Given the description of an element on the screen output the (x, y) to click on. 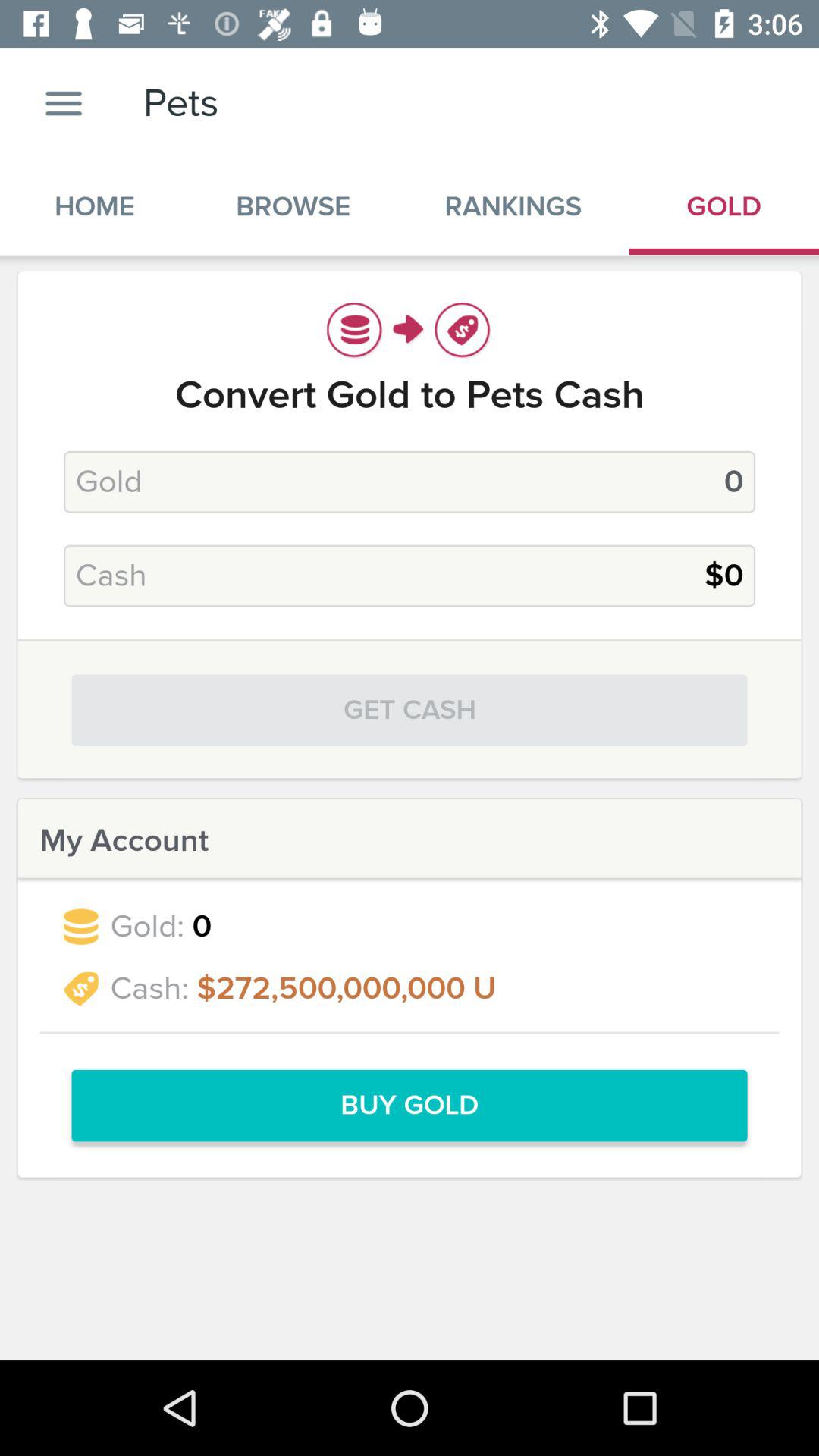
open the buy gold icon (409, 1105)
